Given the description of an element on the screen output the (x, y) to click on. 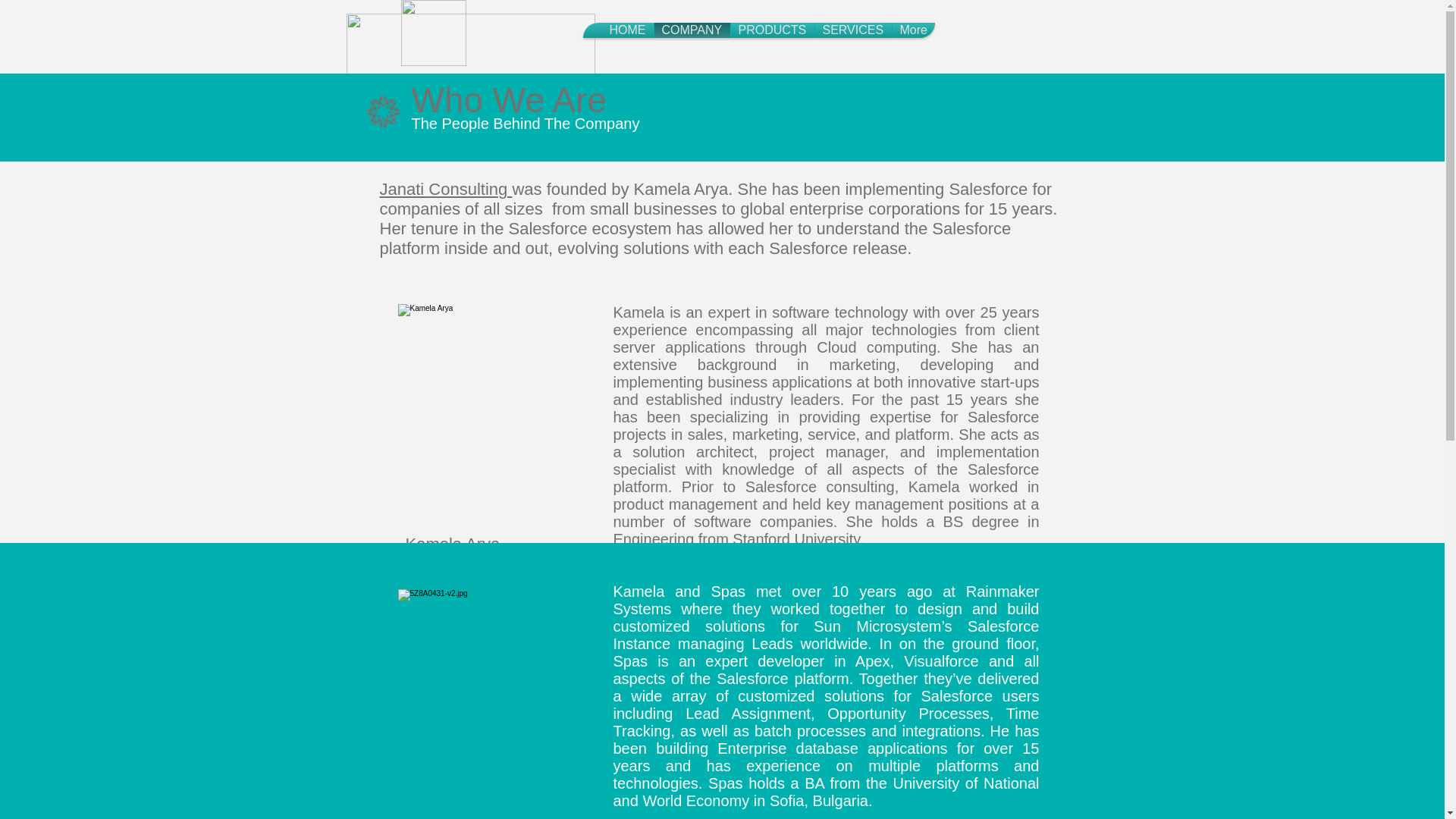
Janati Consulting (445, 189)
HOME (627, 29)
PRODUCTS (771, 29)
Janati Consulting Logo.png (432, 33)
Janati Consulting Logo Text.png (470, 60)
COMPANY (691, 29)
SERVICES (852, 29)
